Given the description of an element on the screen output the (x, y) to click on. 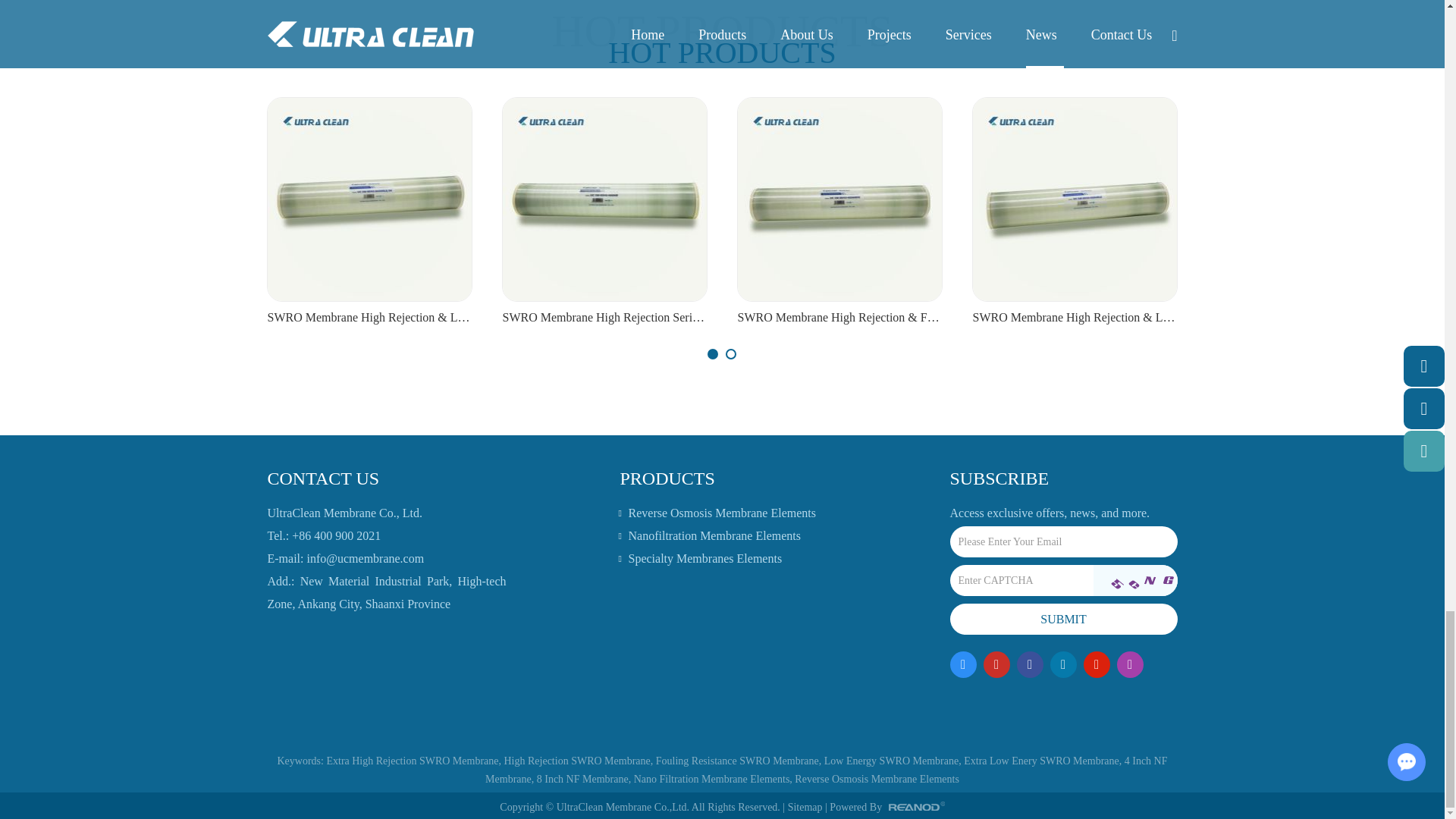
Submit (1062, 618)
SWRO Membrane High Rejection Series SW-8040-400HR (604, 317)
SWRO Membrane High Rejection Series SW-8040-400HR (604, 199)
